Given the description of an element on the screen output the (x, y) to click on. 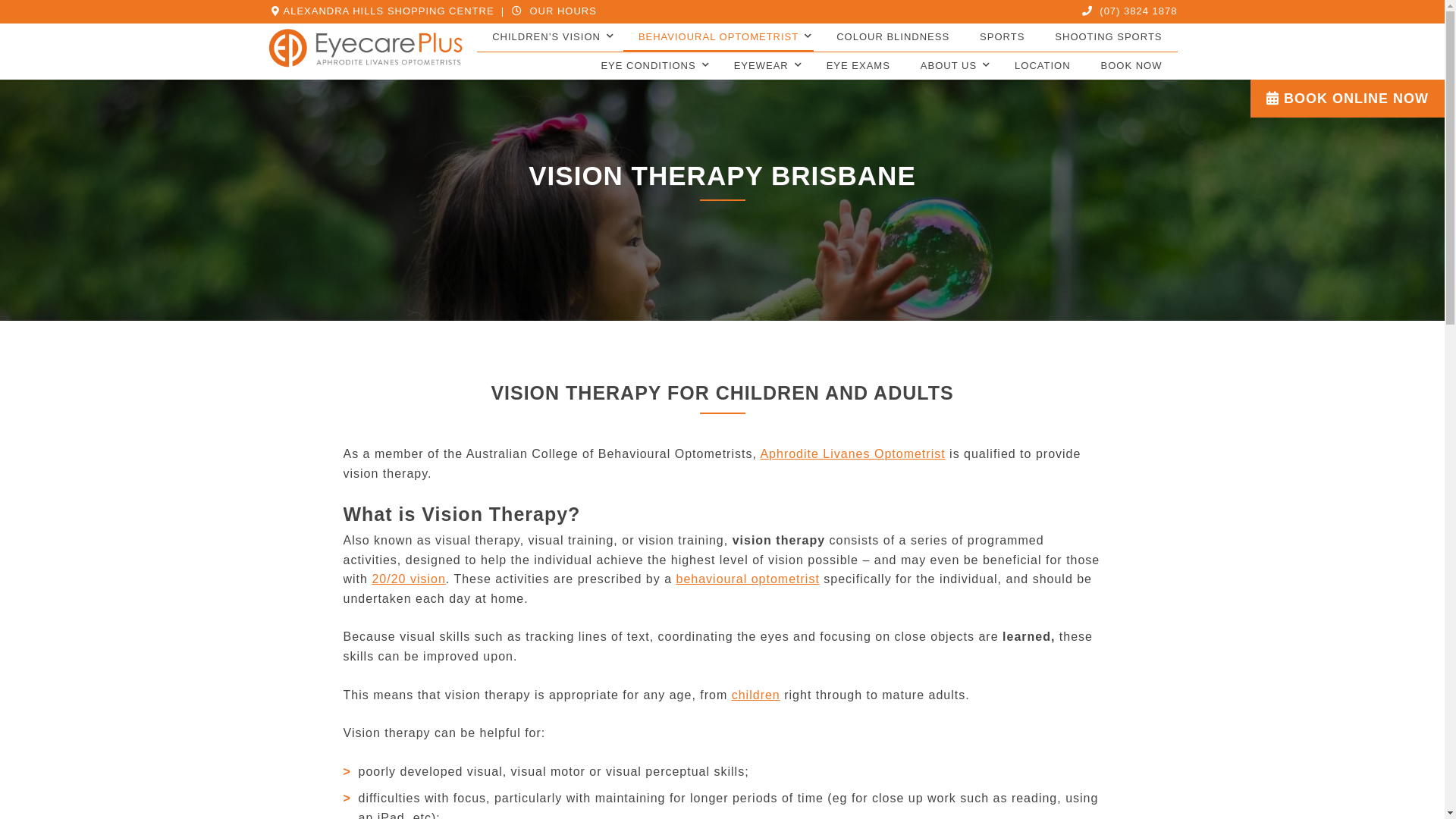
EYEWEAR Element type: text (760, 66)
SPORTS Element type: text (1001, 37)
20/20 vision Element type: text (408, 578)
ABOUT US Element type: text (948, 66)
(07) 3824 1878 Element type: text (1127, 10)
ALEXANDRA HILLS SHOPPING CENTRE Element type: text (379, 10)
BEHAVIOURAL OPTOMETRIST Element type: text (718, 37)
Aphrodite Livanes Optometrist Element type: text (851, 453)
LOCATION Element type: text (1042, 66)
behavioural optometrist Element type: text (747, 578)
OUR HOURS Element type: text (552, 10)
BOOK NOW Element type: text (1131, 66)
EYE CONDITIONS Element type: text (647, 66)
COLOUR BLINDNESS Element type: text (892, 37)
children Element type: text (755, 694)
BOOK ONLINE NOW Element type: text (1347, 98)
SHOOTING SPORTS Element type: text (1107, 37)
EYE EXAMS Element type: text (858, 66)
